Given the description of an element on the screen output the (x, y) to click on. 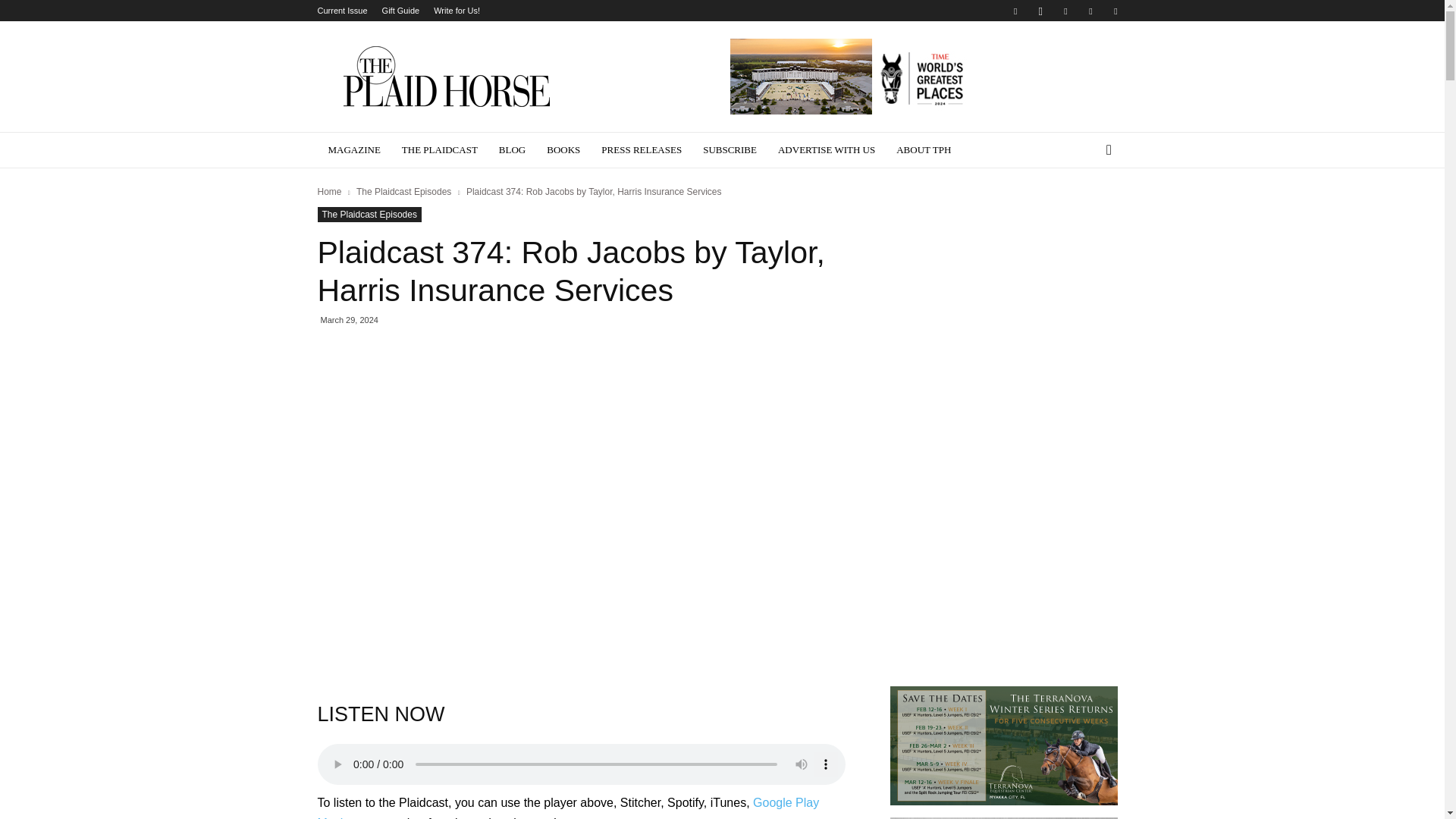
Facebook (1015, 10)
Instagram (1040, 10)
Gift Guide (400, 10)
Pinterest (1090, 10)
TikTok (1114, 10)
Current Issue (341, 10)
Write for Us! (456, 10)
Linkedin (1065, 10)
